Given the description of an element on the screen output the (x, y) to click on. 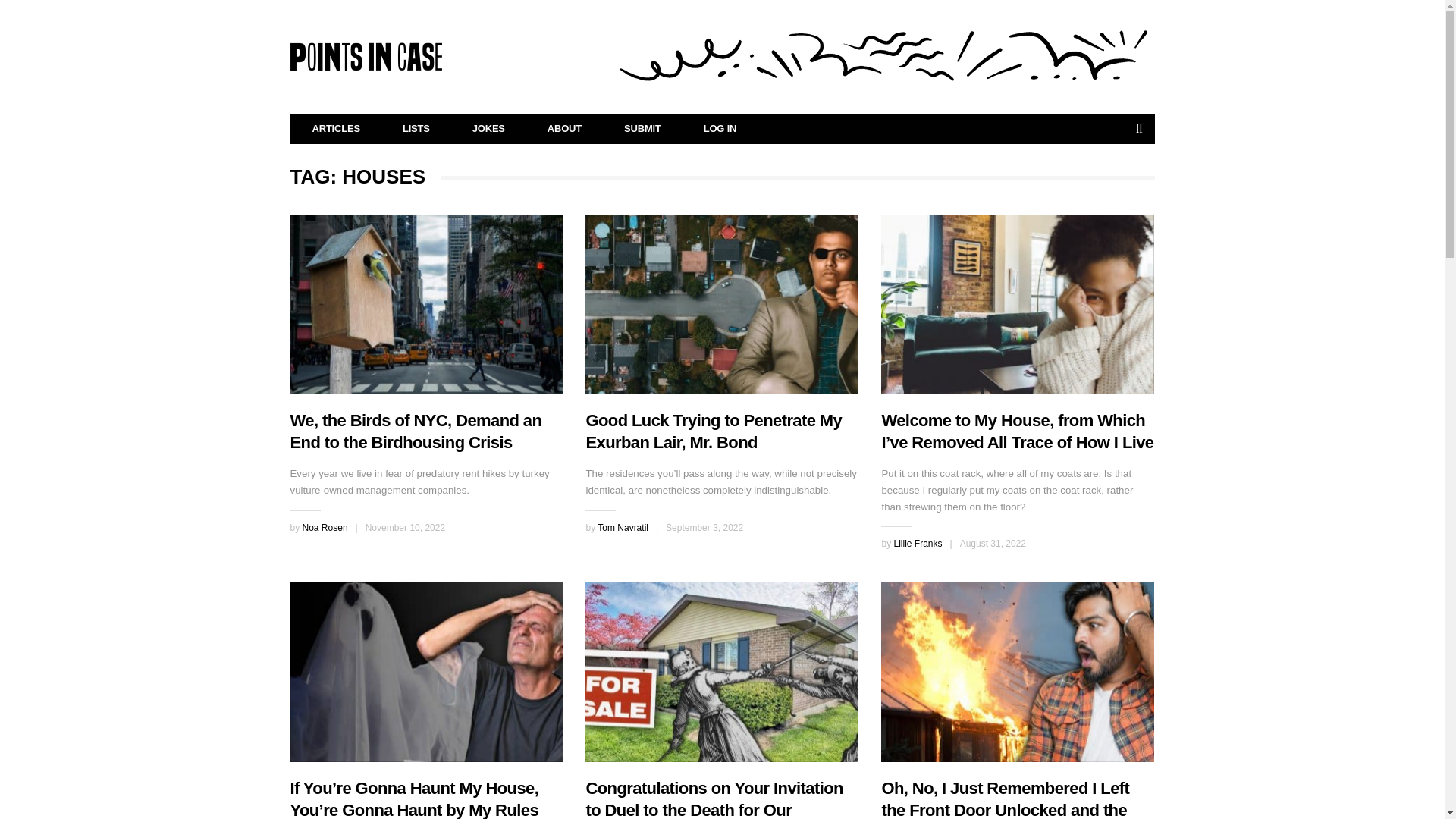
Good Luck Trying to Penetrate My Exurban Lair, Mr. Bond (713, 431)
Noa Rosen (324, 527)
Tom Navratil (621, 527)
Posts by Tom Navratil (621, 527)
ARTICLES (336, 128)
JOKES (488, 128)
ABOUT (563, 128)
Posts by Noa Rosen (324, 527)
Good Luck Trying to Penetrate My Exurban Lair, Mr. Bond (722, 303)
LISTS (416, 128)
Posts by Lillie Franks (917, 543)
